Given the description of an element on the screen output the (x, y) to click on. 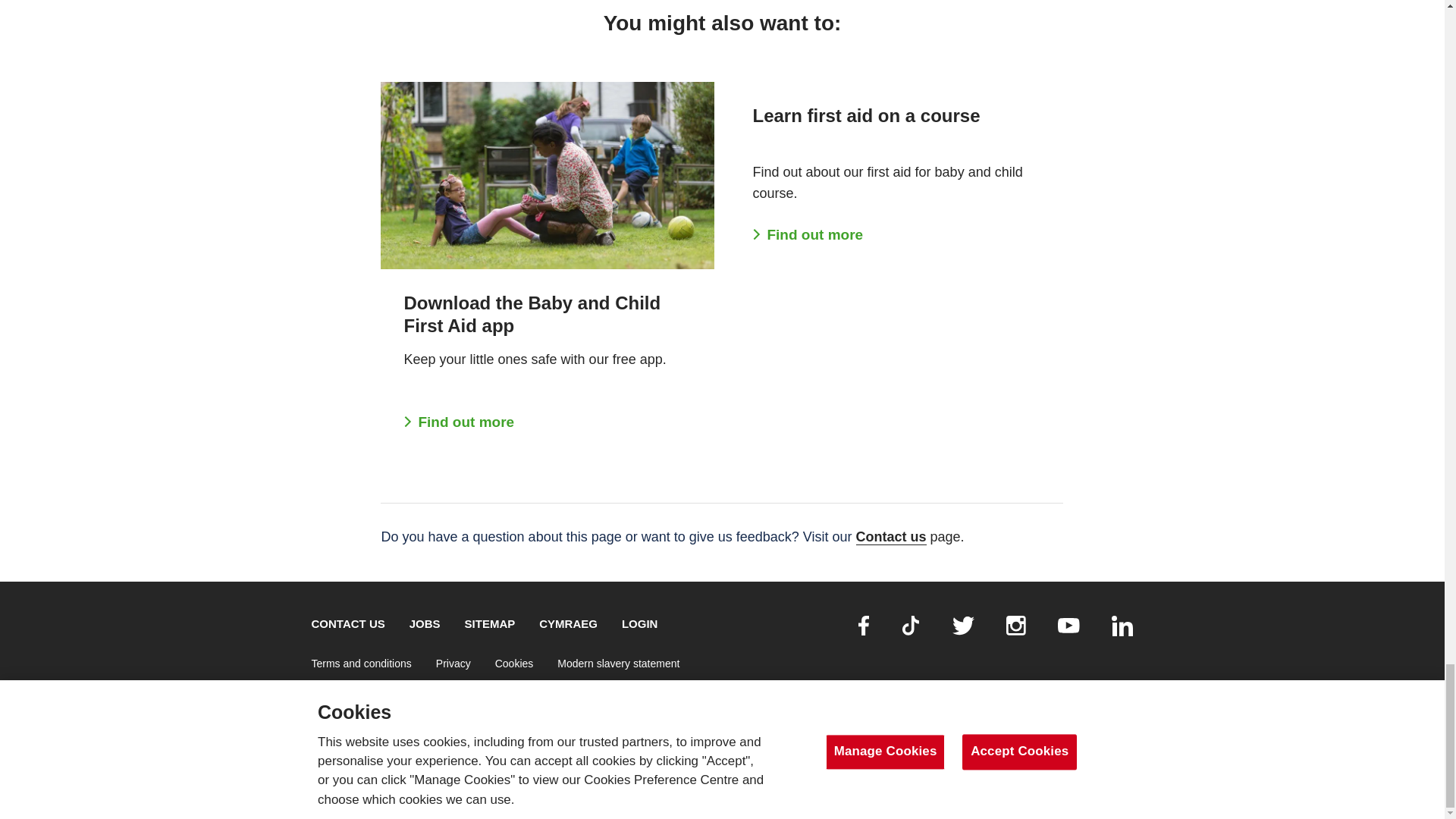
Instagram (1016, 625)
TikTok (910, 625)
Twitter (963, 625)
LinkedIn (1122, 625)
Youtube (1069, 625)
